Given the description of an element on the screen output the (x, y) to click on. 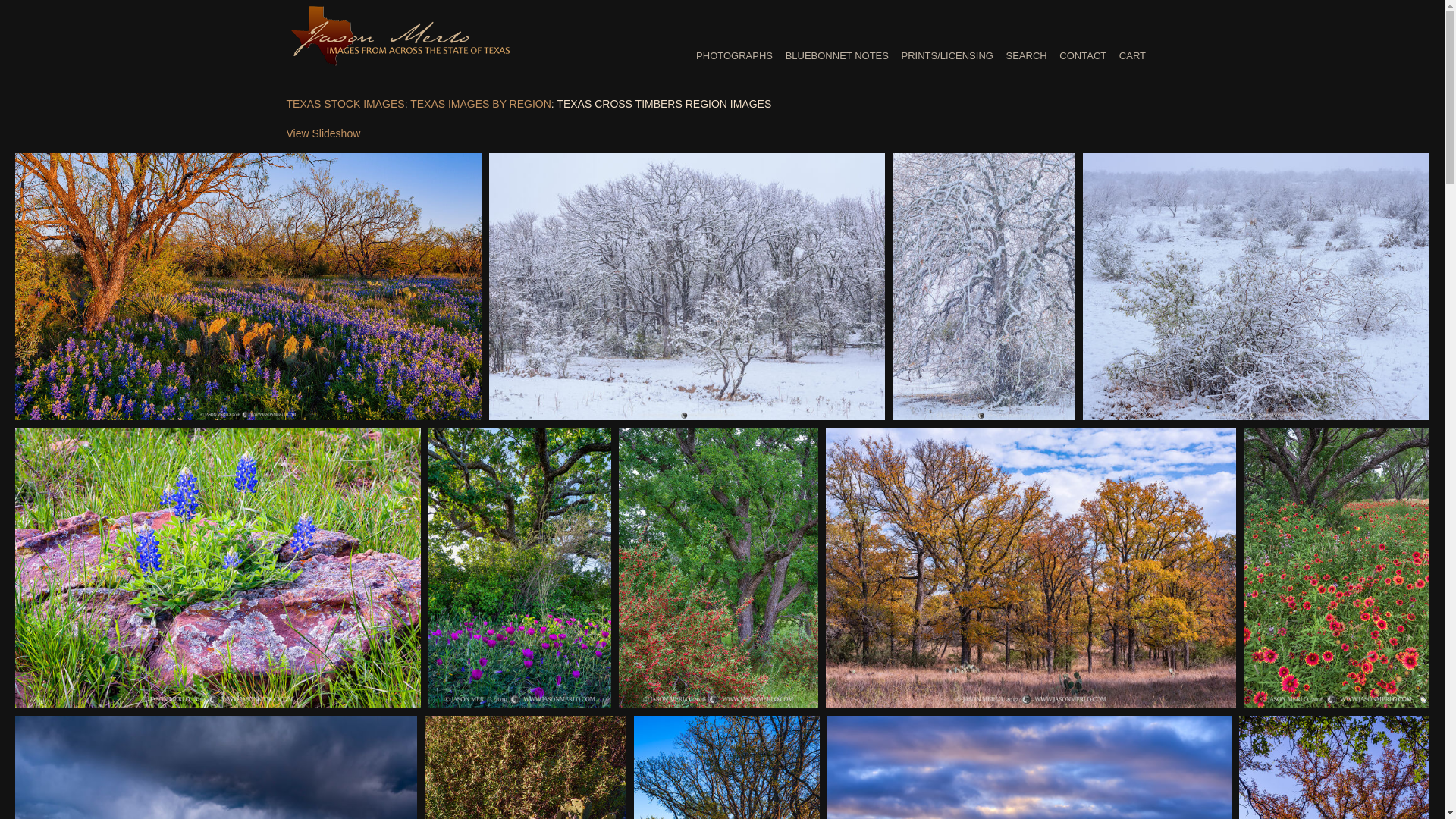
BLUEBONNET NOTES (836, 55)
PHOTOGRAPHS (734, 55)
CART (1131, 55)
Jason Merlo Photography (399, 59)
CONTACT (1083, 55)
TEXAS IMAGES BY REGION (480, 103)
TEXAS STOCK IMAGES (345, 103)
View Slideshow (323, 133)
SEARCH (1026, 55)
